Given the description of an element on the screen output the (x, y) to click on. 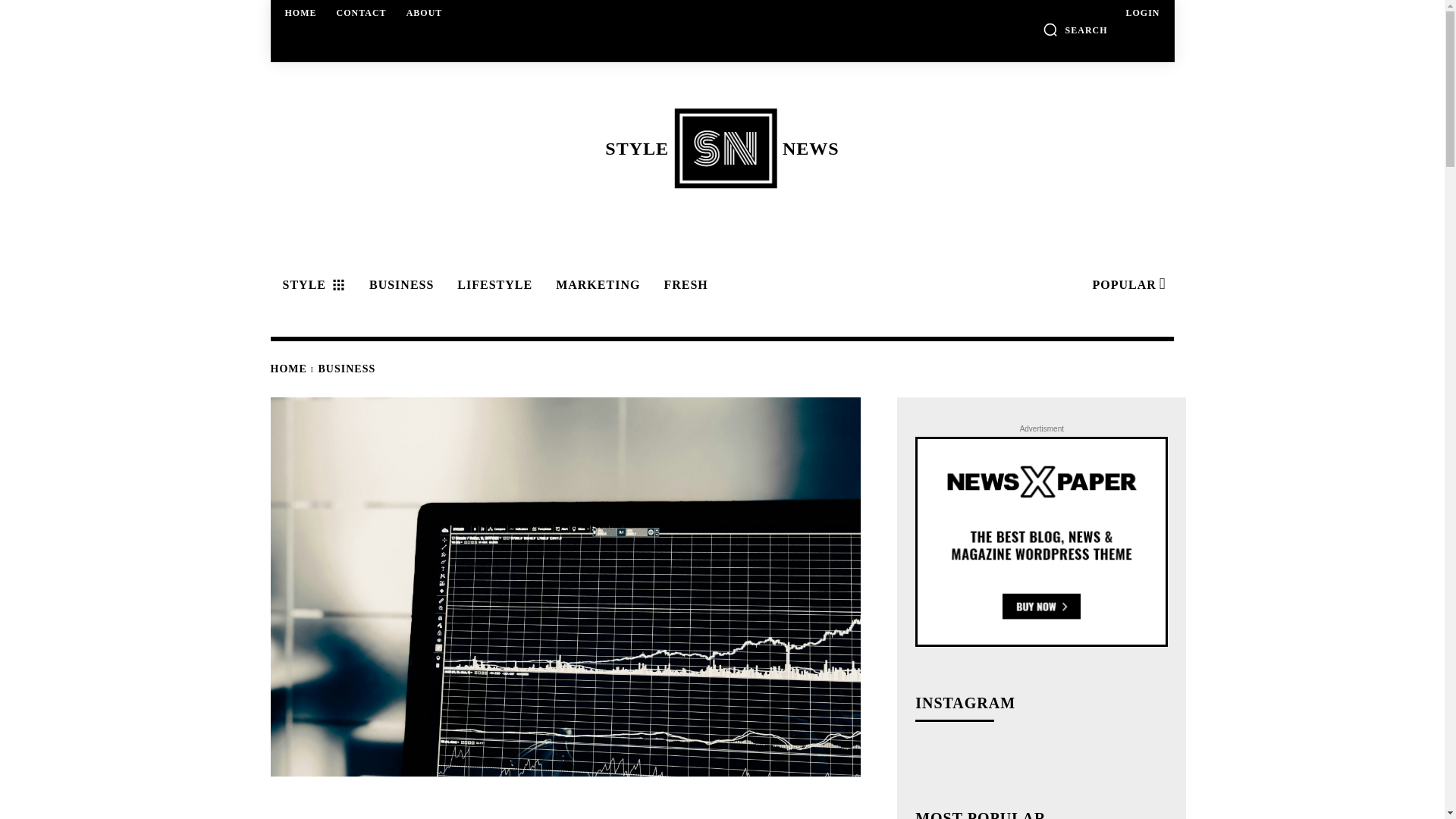
CONTACT (361, 12)
ABOUT (423, 12)
SEARCH (1075, 29)
STYLE (721, 148)
HOME (310, 285)
LOGIN (301, 12)
POPULAR (1141, 12)
